Given the description of an element on the screen output the (x, y) to click on. 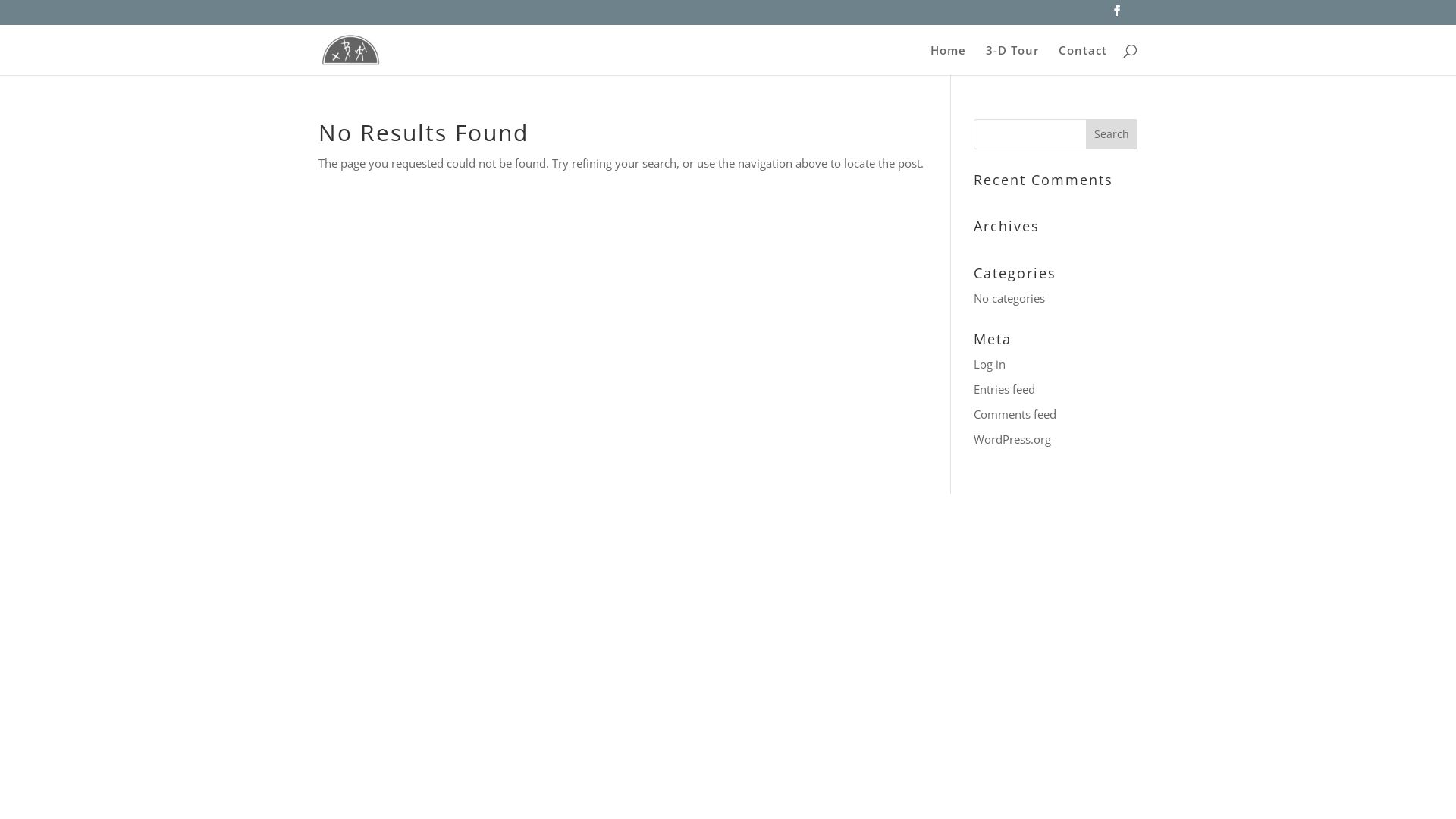
Contact Element type: text (1082, 58)
Comments feed Element type: text (1014, 413)
Entries feed Element type: text (1004, 388)
3-D Tour Element type: text (1011, 58)
Log in Element type: text (989, 363)
Search Element type: text (1111, 133)
WordPress.org Element type: text (1012, 438)
Home Element type: text (948, 58)
